Given the description of an element on the screen output the (x, y) to click on. 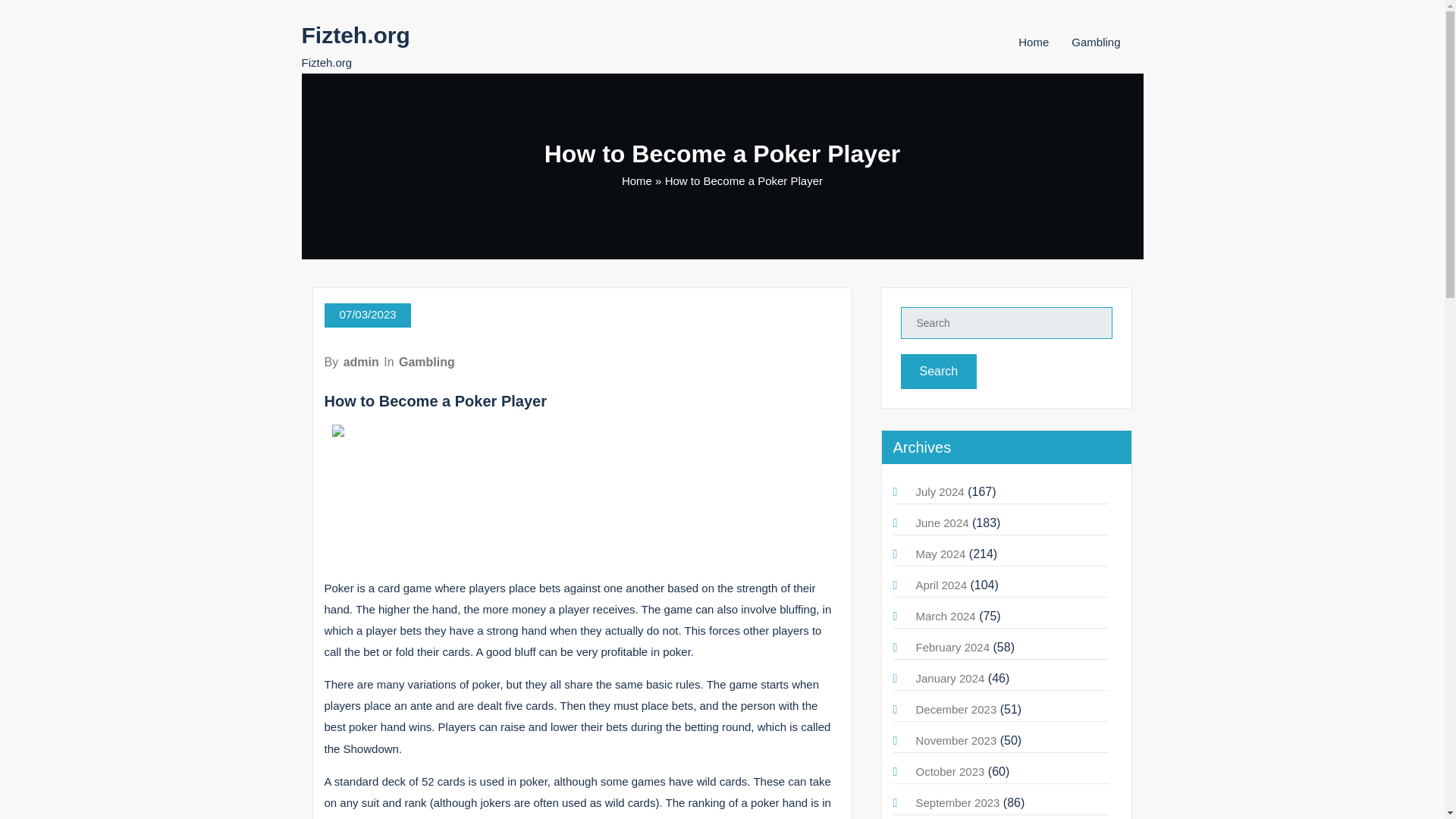
May 2024 (940, 553)
April 2024 (941, 584)
January 2024 (950, 677)
December 2023 (956, 708)
Gambling (427, 361)
admin (361, 361)
Search (938, 371)
Gambling (1095, 41)
Home (636, 180)
July 2024 (939, 491)
March 2024 (945, 615)
November 2023 (956, 739)
June 2024 (942, 522)
September 2023 (957, 802)
Fizteh.org (355, 34)
